Given the description of an element on the screen output the (x, y) to click on. 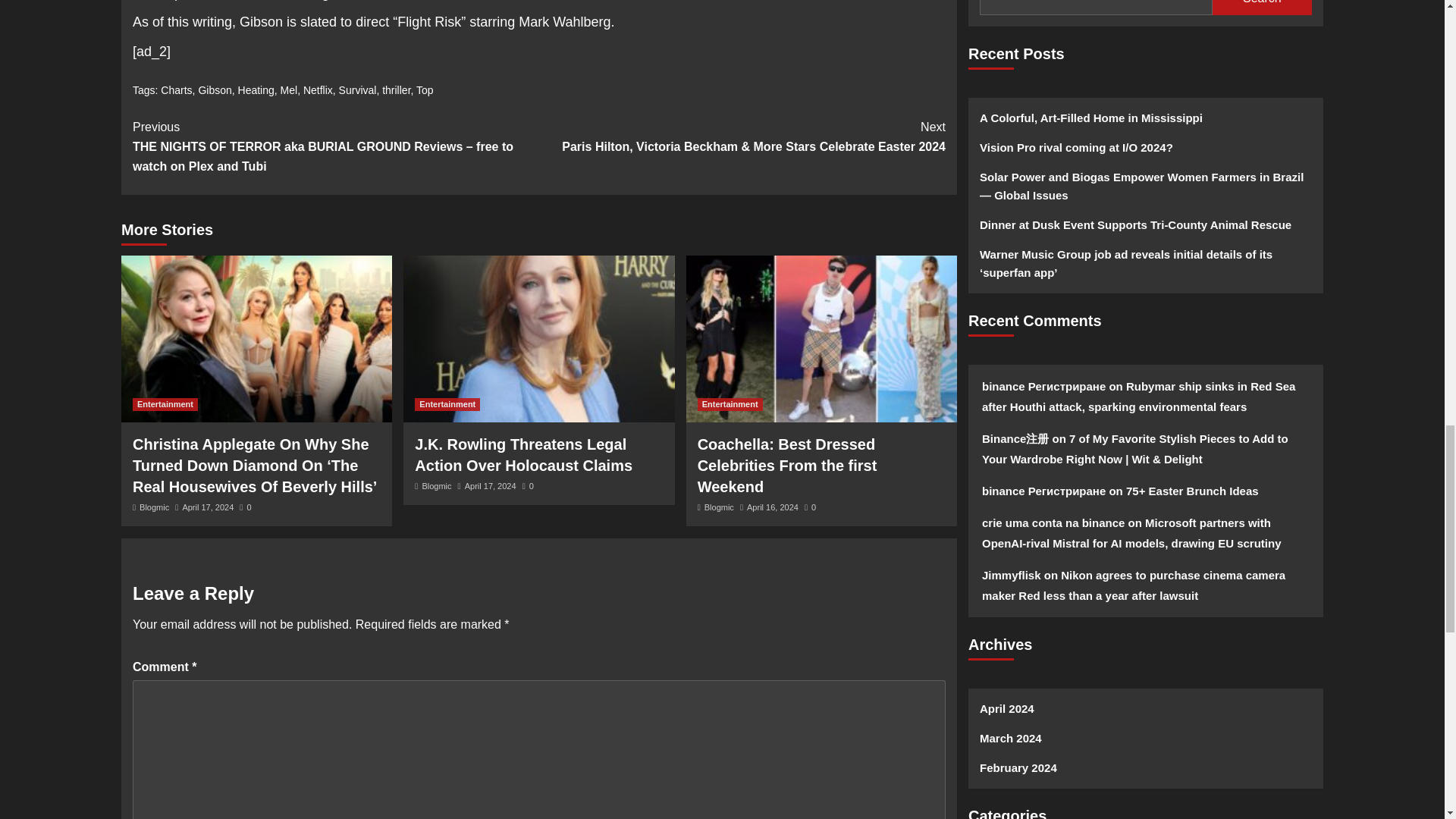
Charts (176, 90)
Netflix (317, 90)
thriller (395, 90)
Top (424, 90)
Mel (289, 90)
Gibson (214, 90)
Heating (256, 90)
Survival (358, 90)
